Given the description of an element on the screen output the (x, y) to click on. 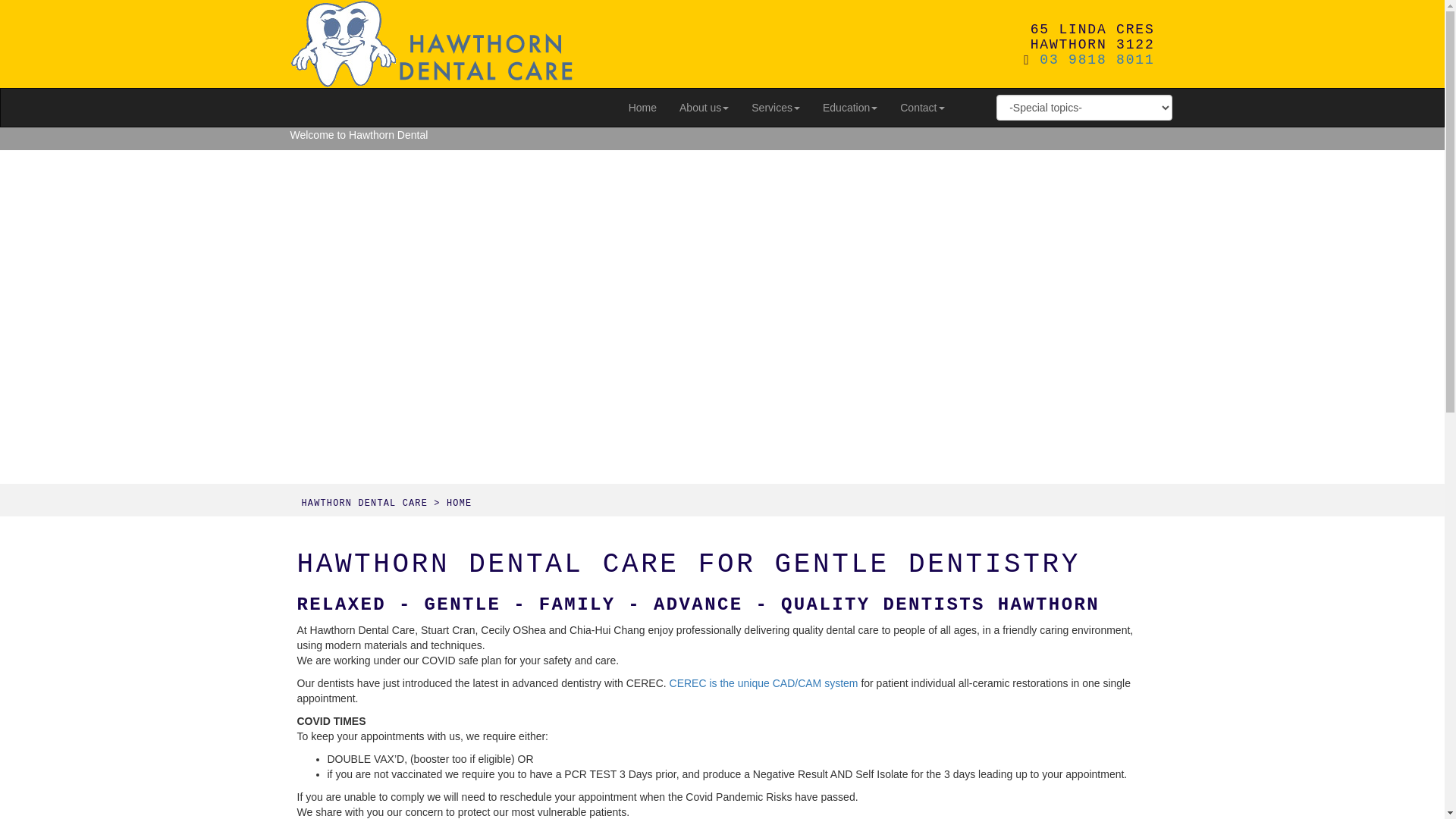
About us Element type: text (704, 107)
Services Element type: text (775, 107)
Contact Element type: text (921, 107)
CEREC is the unique CAD/CAM system Element type: text (763, 683)
Home Element type: text (642, 107)
03 9818 8011 Element type: text (1092, 59)
Education Element type: text (849, 107)
